Given the description of an element on the screen output the (x, y) to click on. 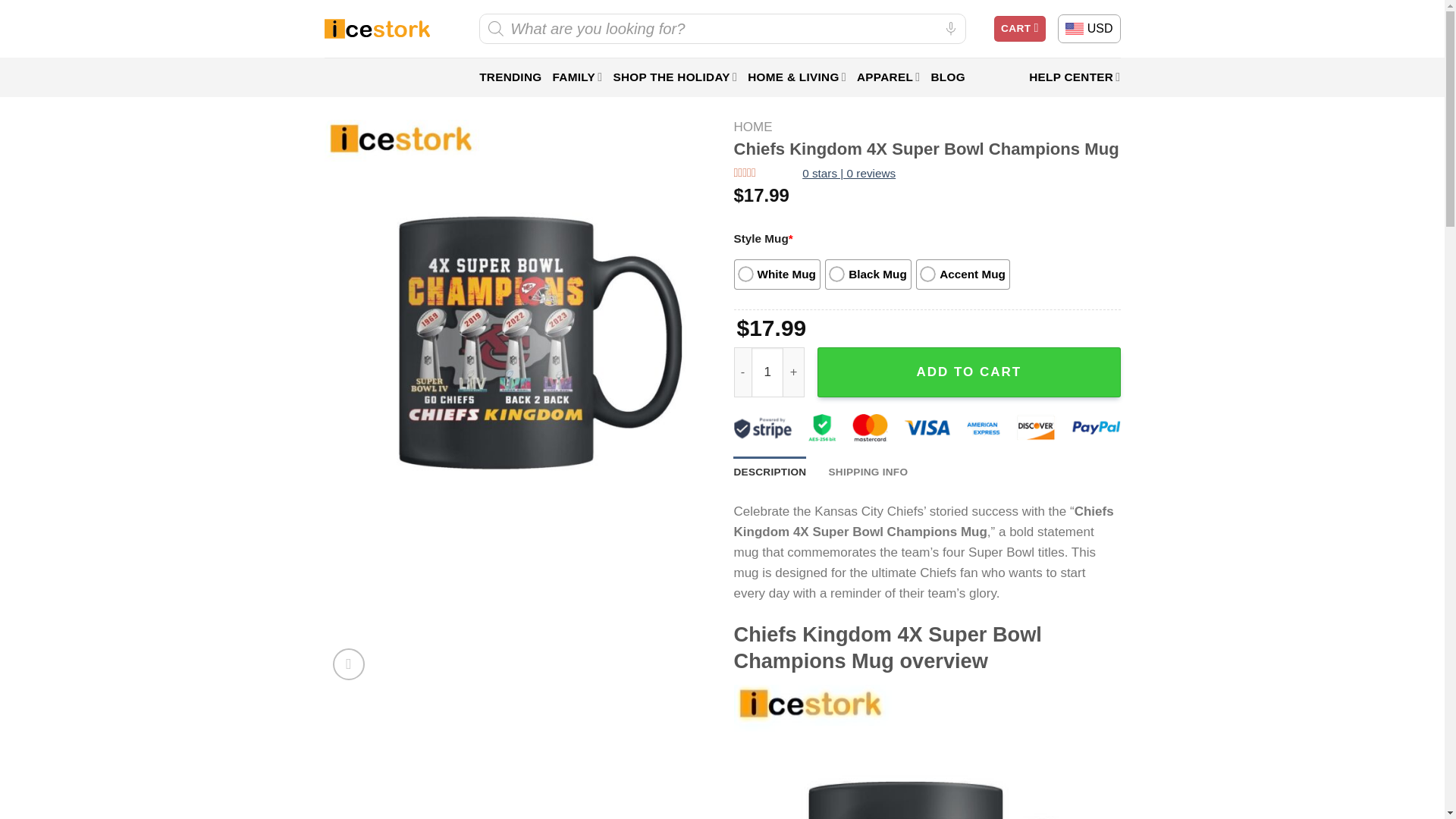
Cart (1019, 28)
Zoom (348, 663)
CART (1019, 28)
Black Mug (868, 274)
Accent Mug (962, 274)
FAMILY (576, 77)
APPAREL (888, 77)
Icestork - Best Clothings With Cheap Price (376, 28)
White Mug (777, 274)
SHOP THE HOLIDAY (674, 77)
HELP CENTER (1074, 77)
TRENDING (510, 77)
